Given the description of an element on the screen output the (x, y) to click on. 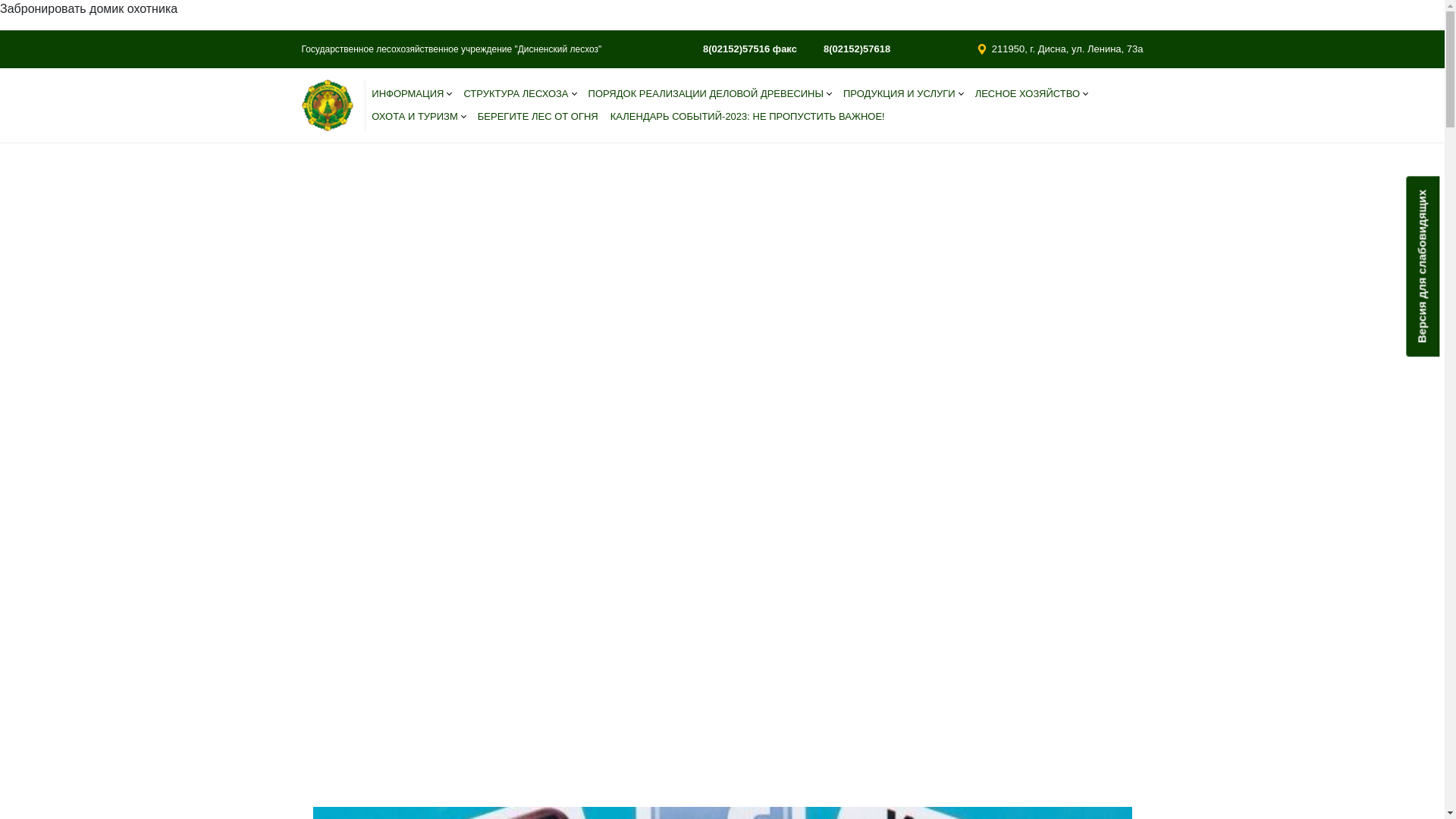
8(02152)57618 Element type: text (849, 48)
